Given the description of an element on the screen output the (x, y) to click on. 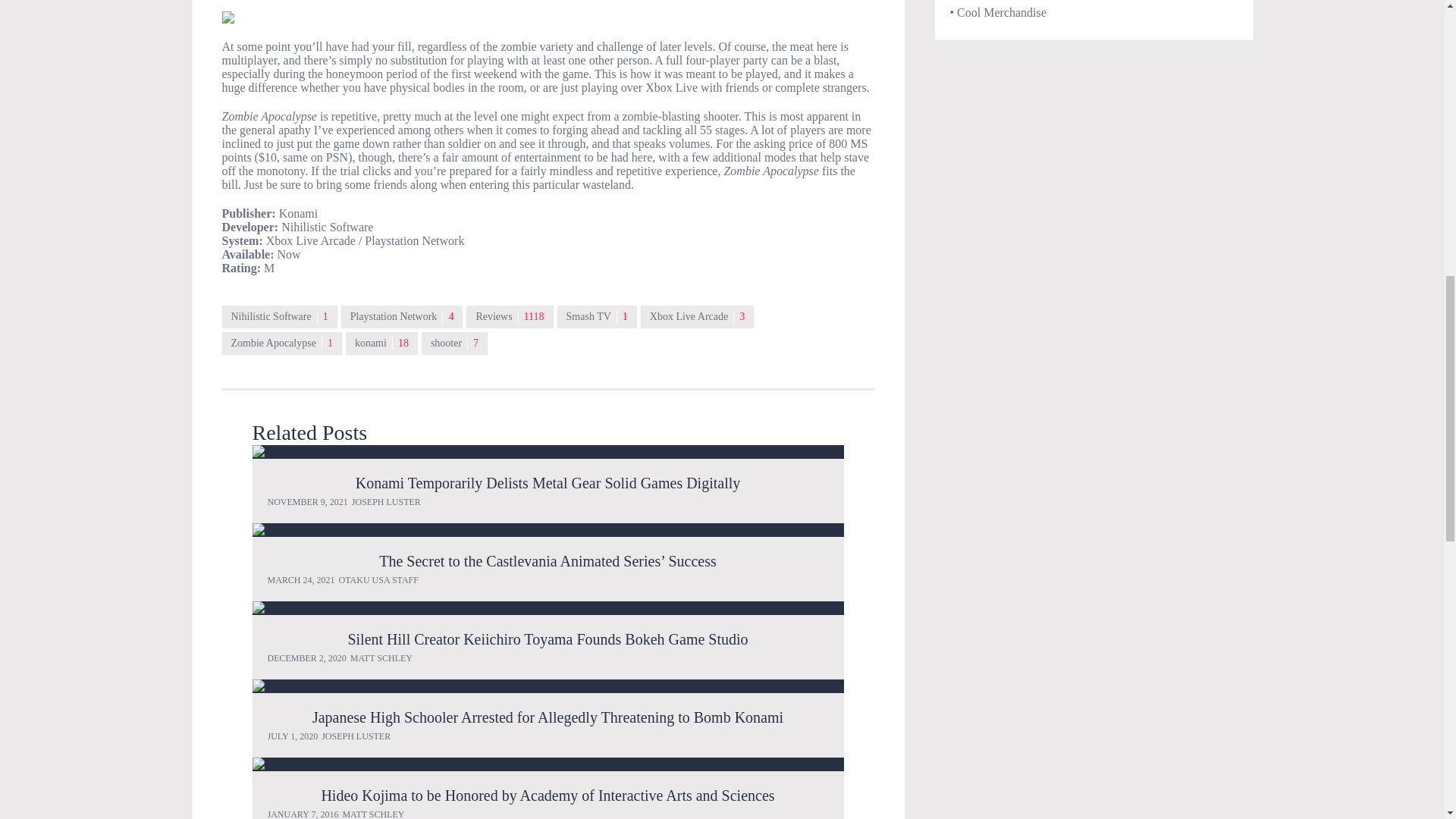
Reviews 1118 (509, 316)
Smash TV 1 (597, 316)
Playstation Network 4 (401, 316)
Zombie Apocalypse 1 (280, 343)
Konami Temporarily Delists Metal Gear Solid Games Digitally (547, 451)
